Given the description of an element on the screen output the (x, y) to click on. 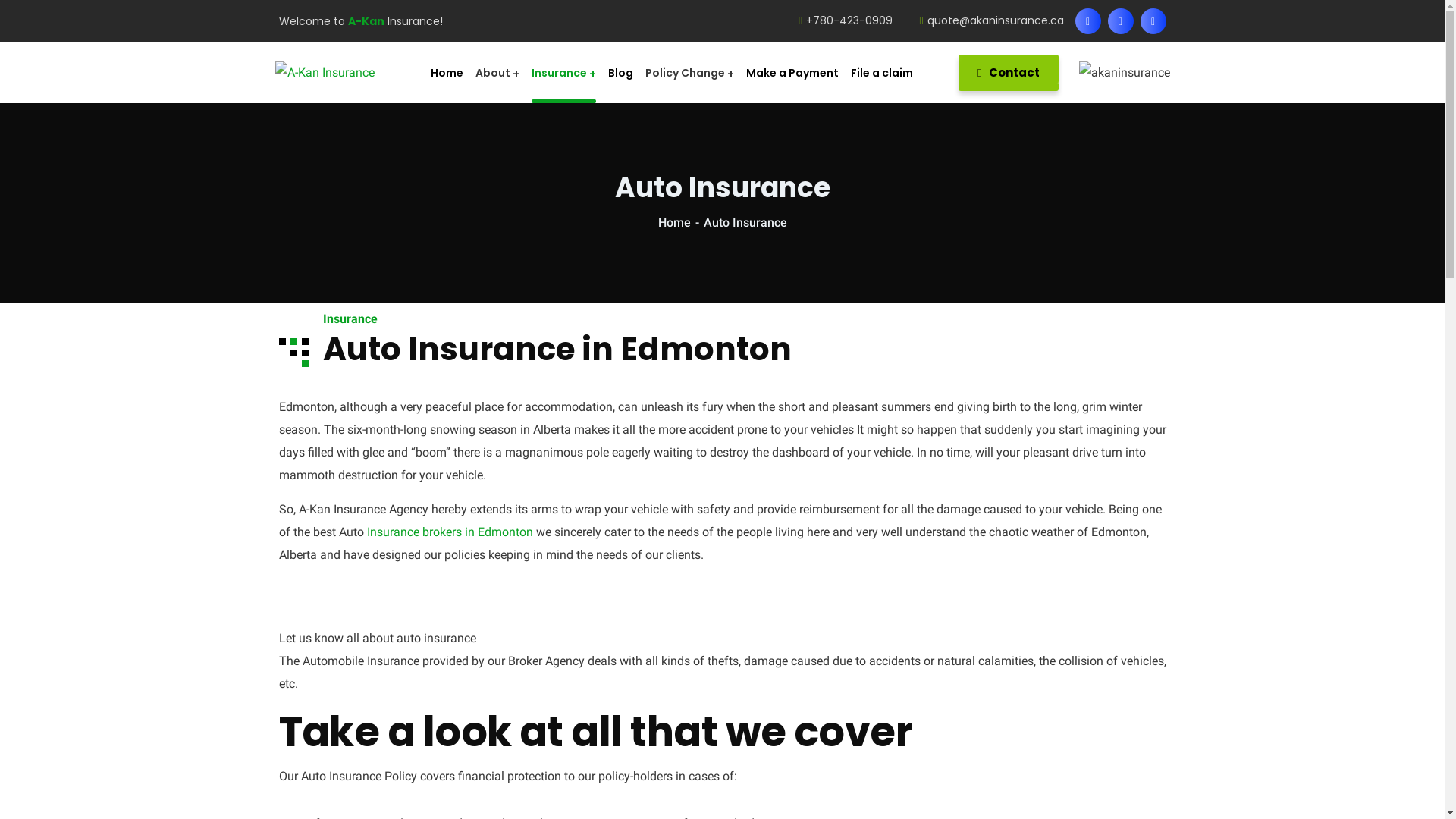
quote@akaninsurance.ca Element type: text (991, 20)
Home Element type: text (680, 222)
Home Element type: text (446, 72)
Let us know all about auto insurance Element type: text (377, 637)
A-Kan Insurance Element type: hover (323, 72)
Make a Payment Element type: text (792, 72)
Blog Element type: text (620, 72)
+780-423-0909 Element type: text (845, 20)
Insurance brokers in Edmonton Element type: text (450, 531)
Insurance Element type: text (563, 72)
File a claim Element type: text (881, 72)
About Element type: text (497, 72)
Policy Change Element type: text (689, 72)
Contact Element type: text (1007, 72)
